Given the description of an element on the screen output the (x, y) to click on. 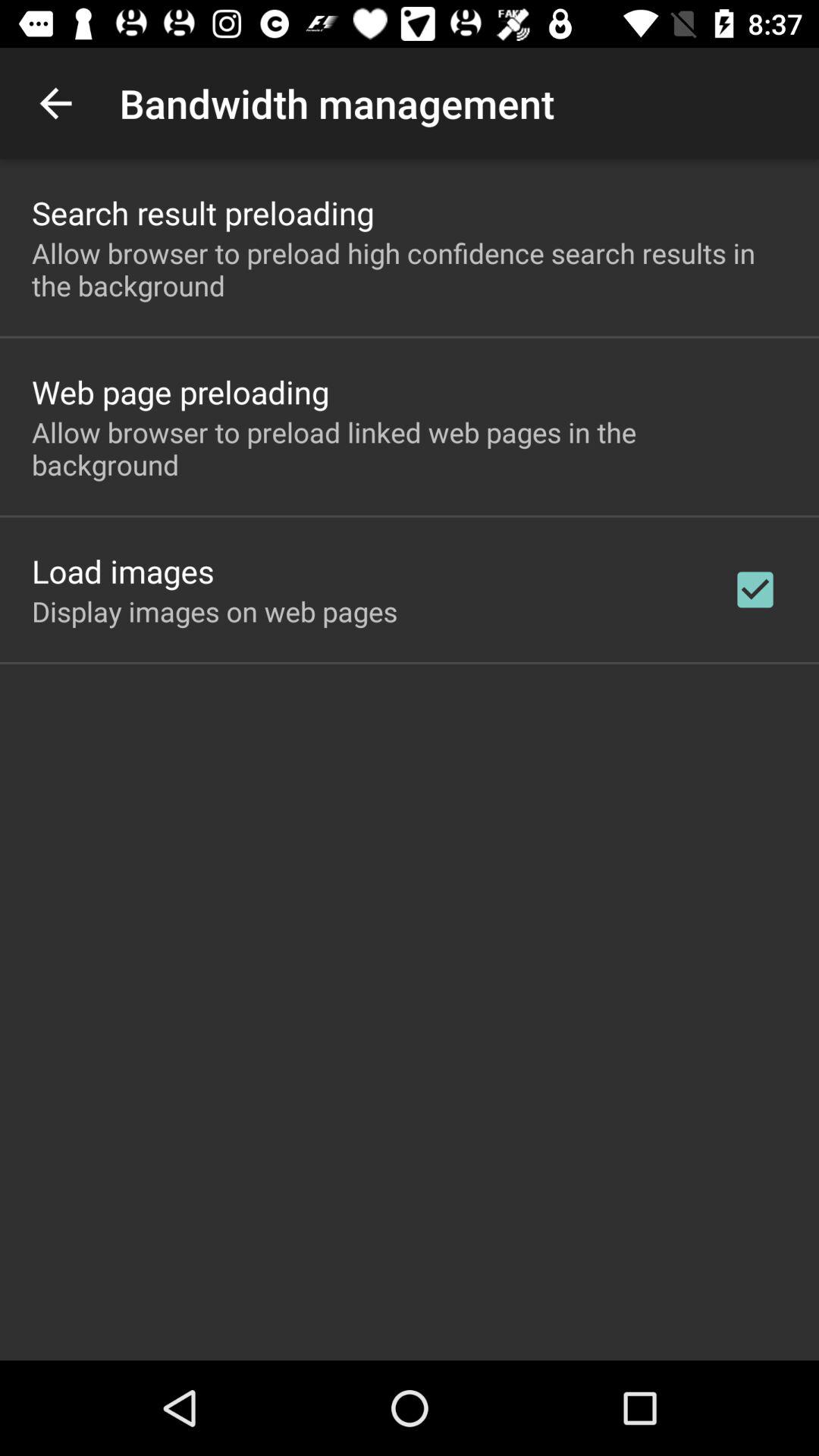
select icon to the right of display images on item (755, 589)
